Given the description of an element on the screen output the (x, y) to click on. 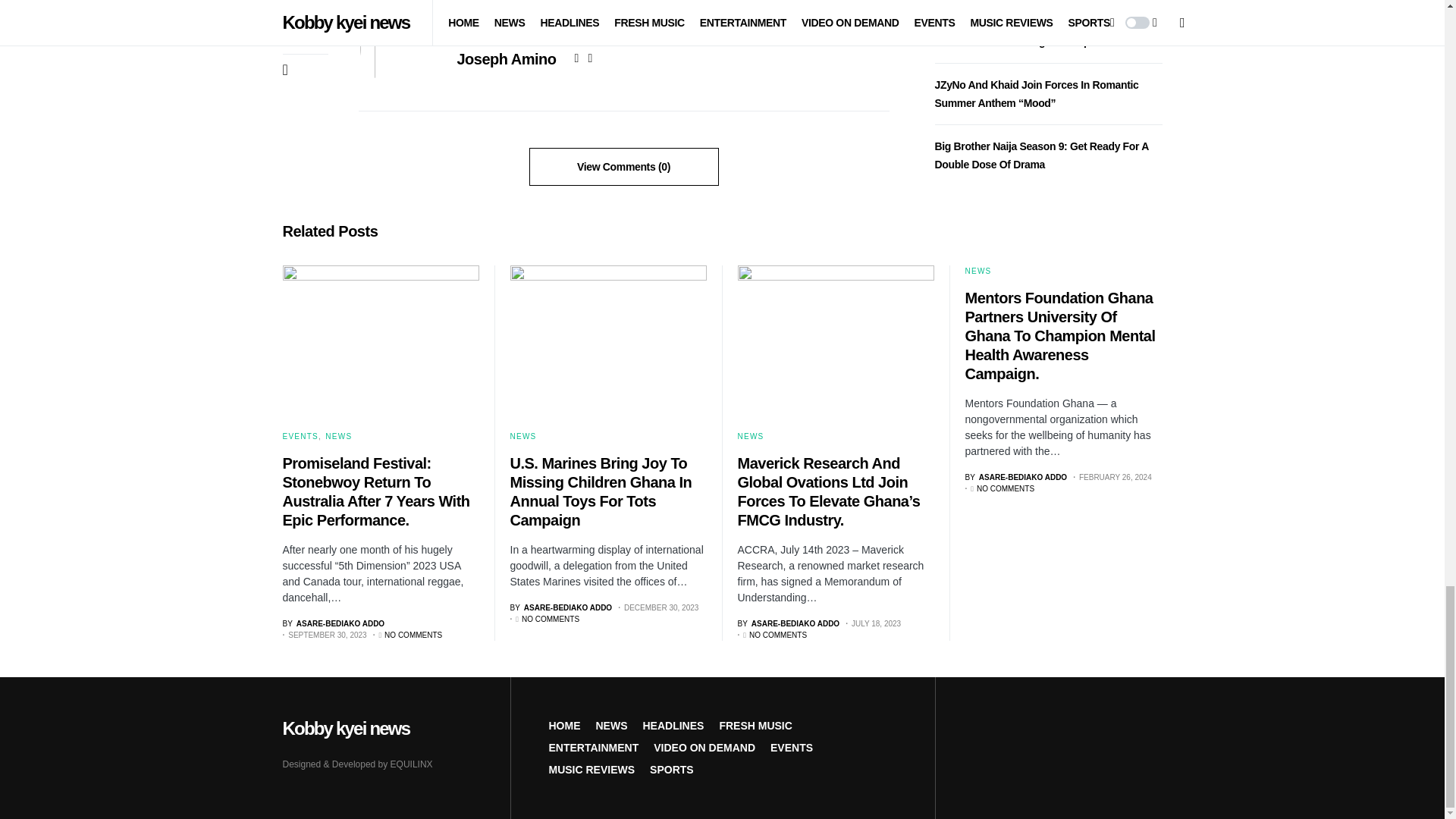
View all posts by Asare-Bediako Addo (788, 623)
View all posts by Asare-Bediako Addo (1015, 476)
View all posts by Asare-Bediako Addo (333, 623)
View all posts by Asare-Bediako Addo (560, 607)
